Given the description of an element on the screen output the (x, y) to click on. 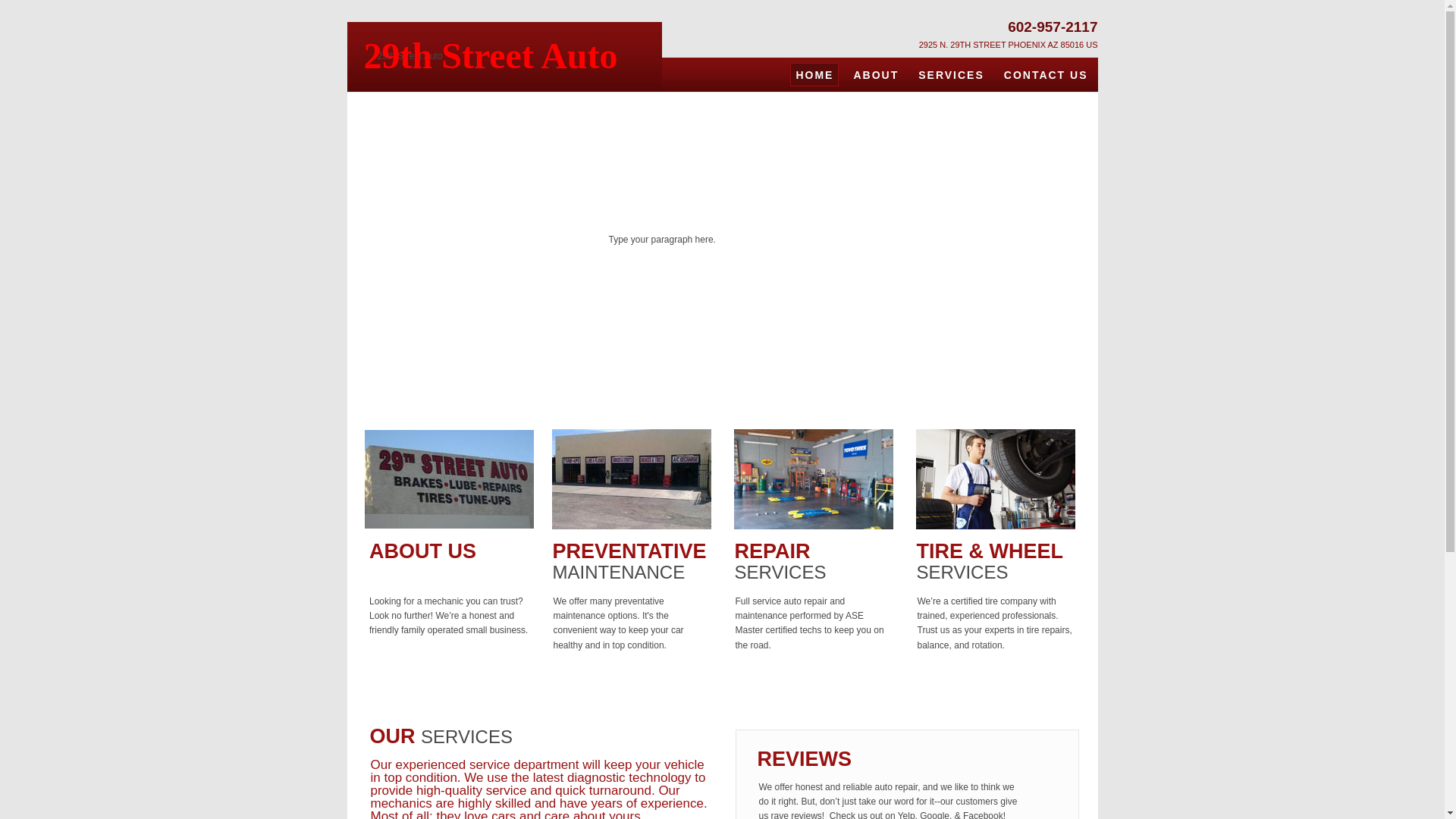
ABOUT Element type: text (875, 74)
SERVICES Element type: text (951, 74)
CONTACT US Element type: text (1045, 74)
HOME Element type: text (814, 74)
